Given the description of an element on the screen output the (x, y) to click on. 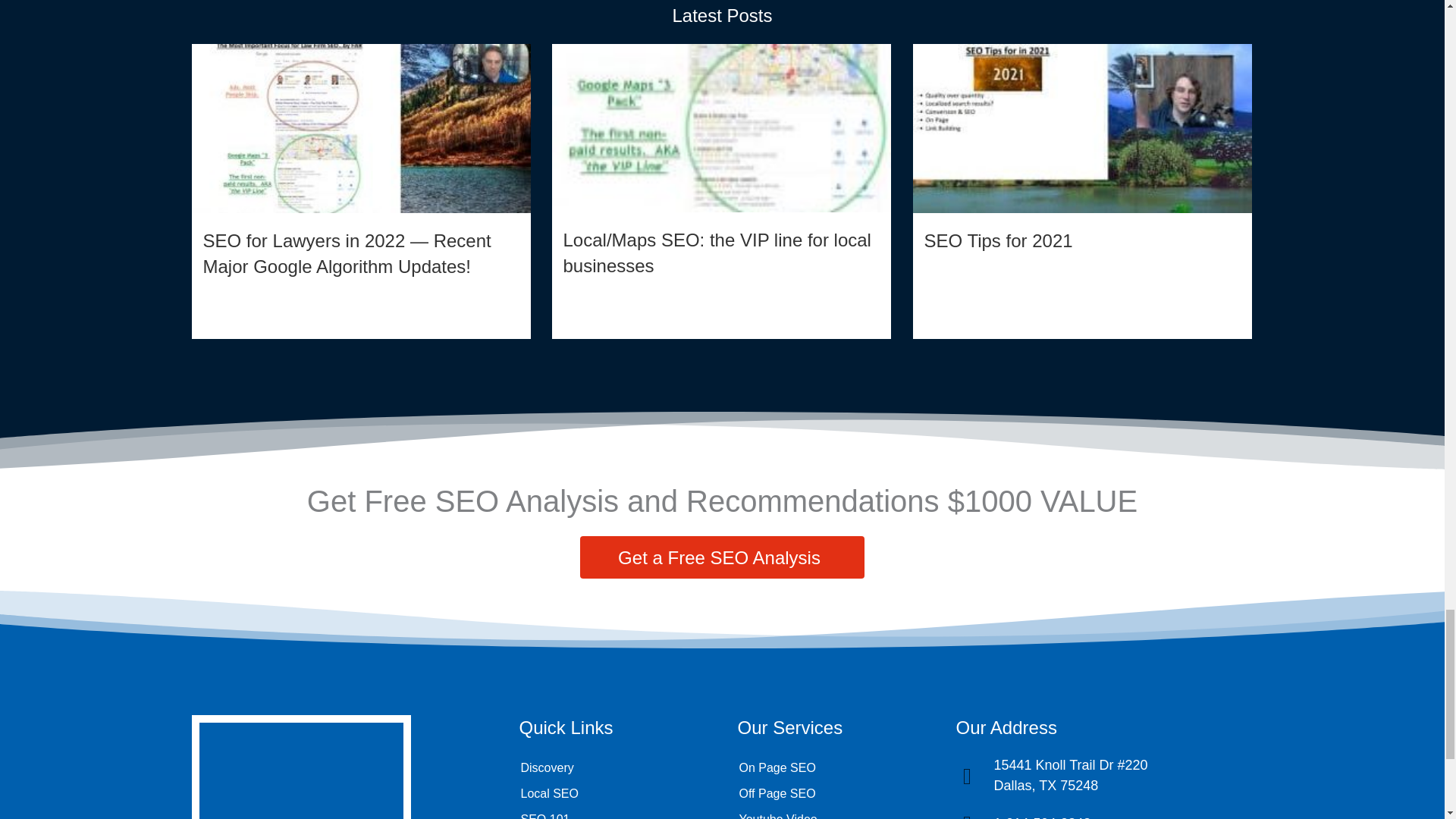
Get a Free SEO Analysis (721, 557)
Logo (300, 766)
SEO Tips for 2021 (1082, 191)
On Page SEO (830, 768)
SEO 101 (612, 812)
Local SEO (612, 793)
Lawyer SEO Expert Major Google Algorithm Updates 2022 (360, 128)
Youtube Video (830, 812)
2021 Search Engine Optimization Tips Google (1082, 128)
Discovery (612, 768)
Dallas Local Search Engine Optimization Google (721, 128)
Off Page SEO (830, 793)
